Given the description of an element on the screen output the (x, y) to click on. 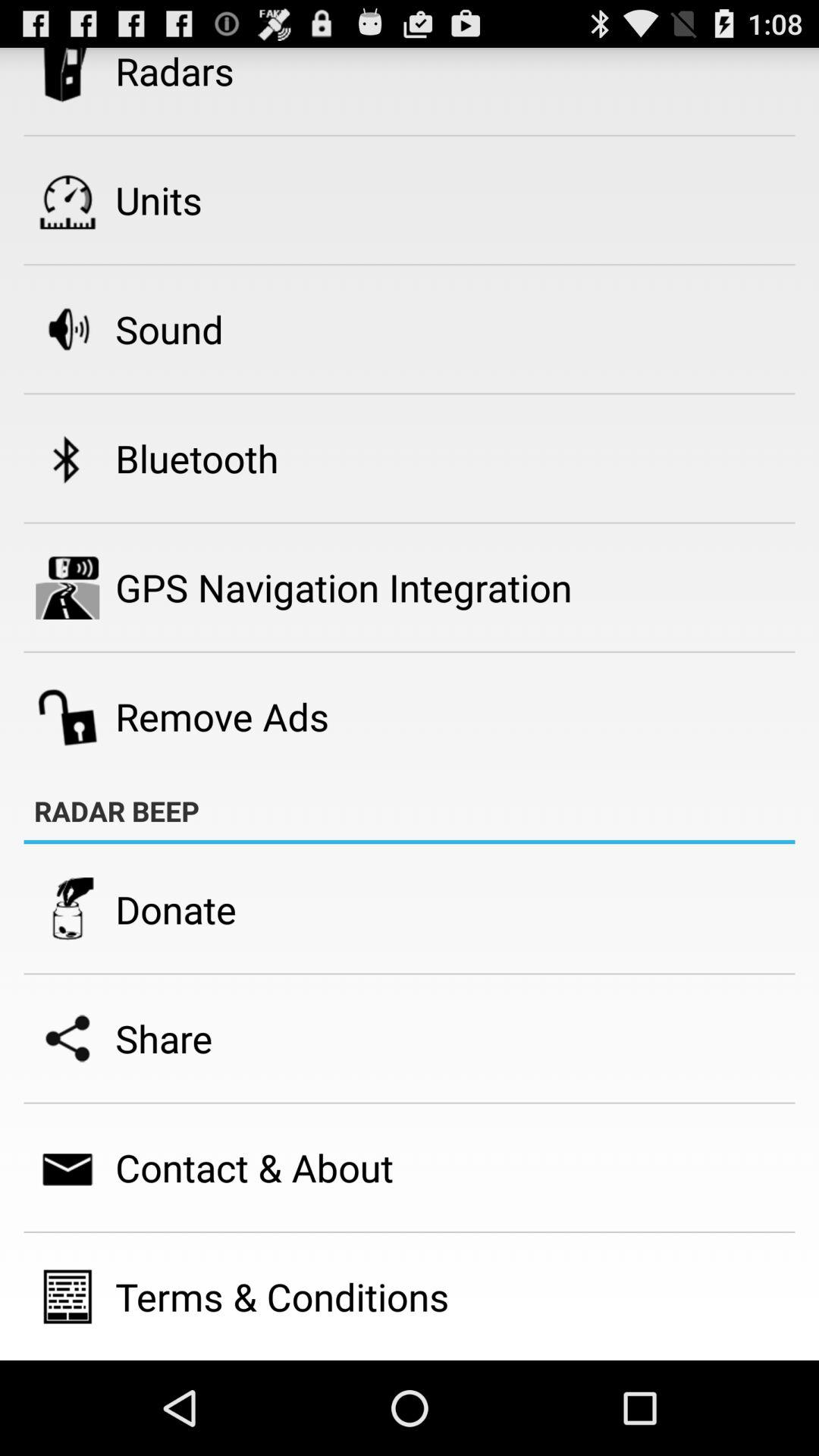
tap the radar beep icon (116, 811)
